Given the description of an element on the screen output the (x, y) to click on. 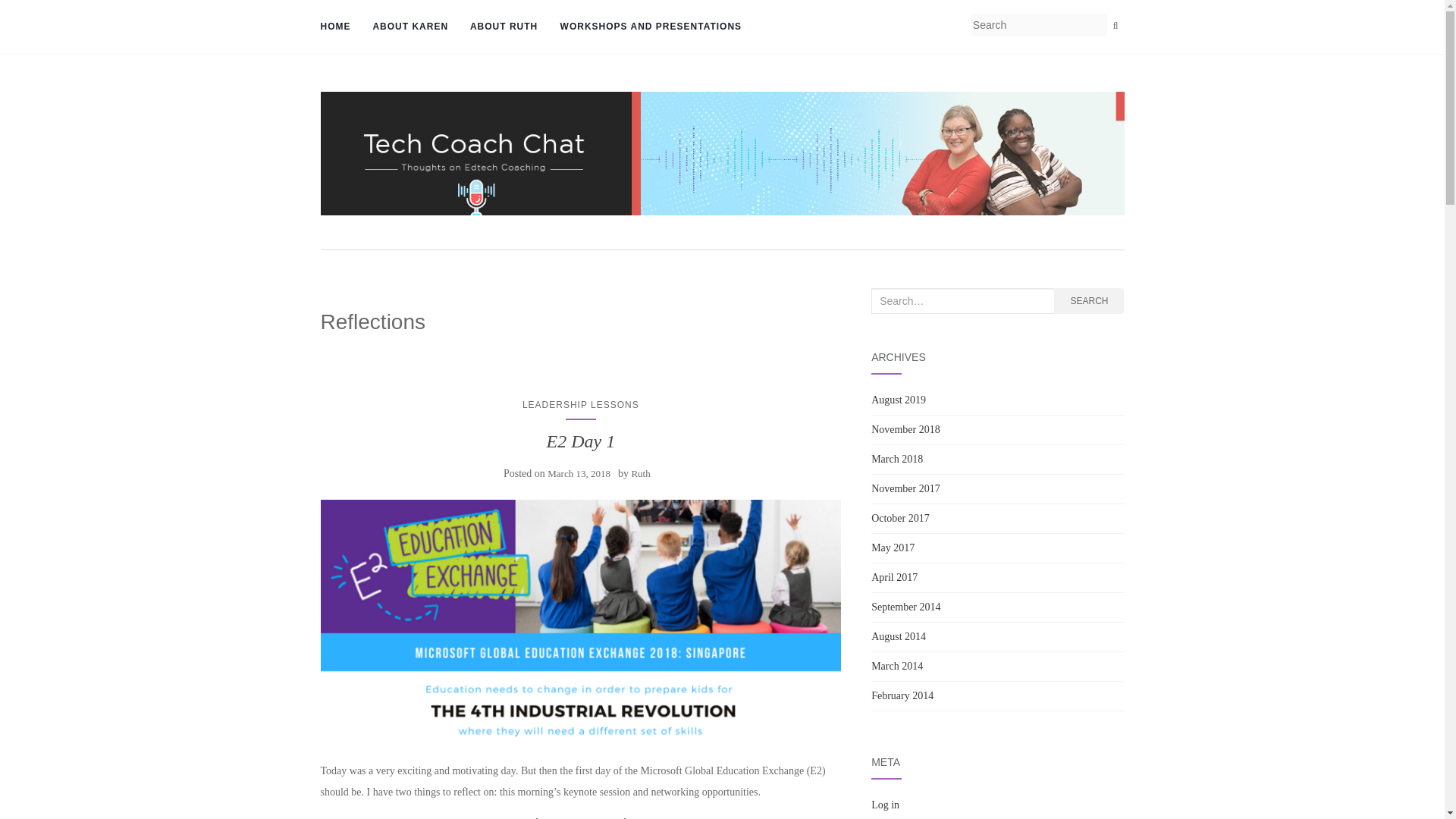
 ABOUT KAREN (408, 27)
SEARCH (1089, 300)
E2 Day 1 (580, 622)
E2 Day 1 (580, 441)
 WORKSHOPS AND PRESENTATIONS (648, 27)
Workshops and Presentations (648, 27)
Ruth (639, 473)
Search for: (962, 300)
About Ruth (502, 27)
March 13, 2018 (578, 473)
About Karen (408, 27)
LEADERSHIP LESSONS (580, 404)
 ABOUT RUTH (502, 27)
